Given the description of an element on the screen output the (x, y) to click on. 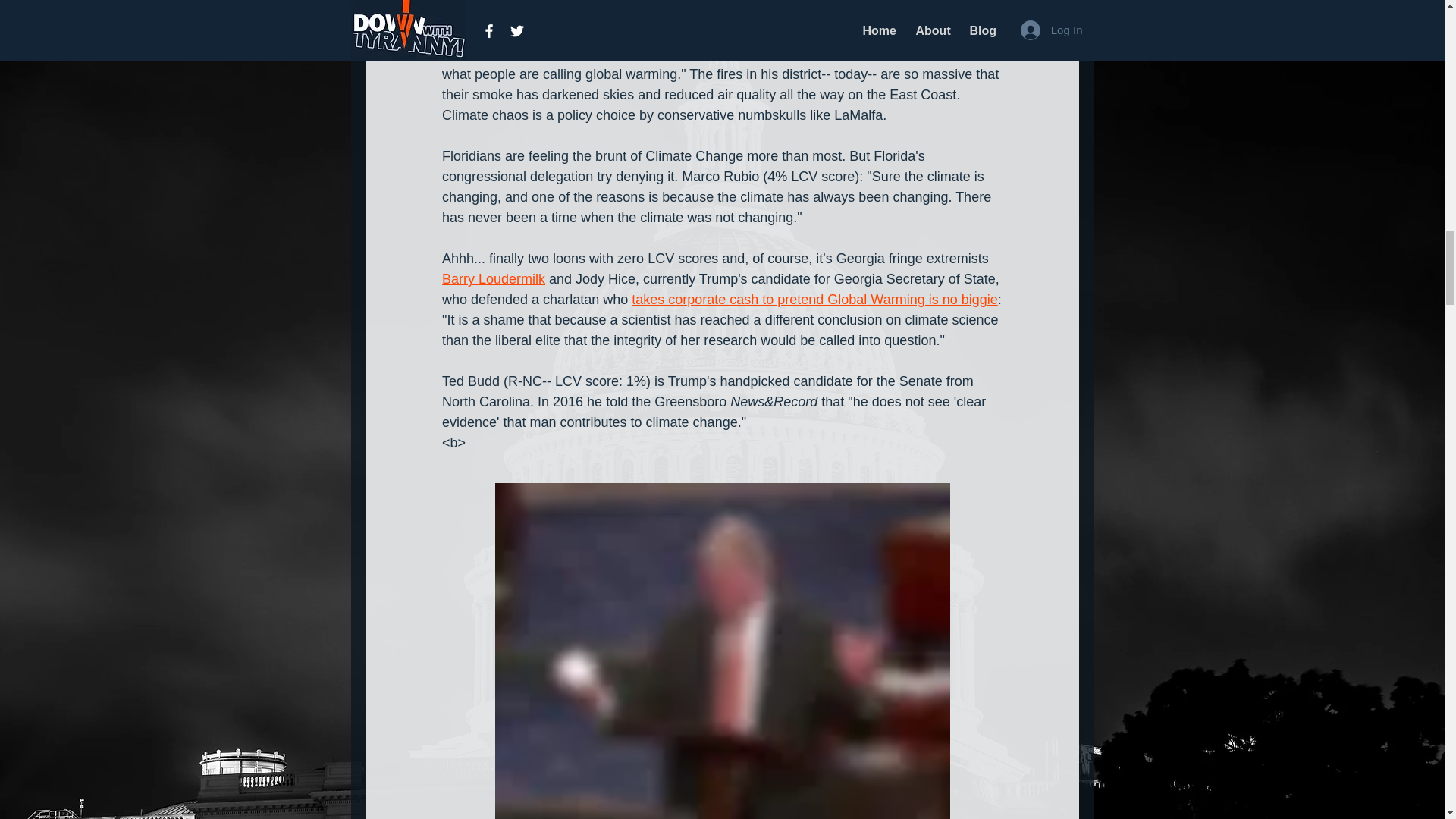
takes corporate cash to pretend Global Warming is no biggie (814, 299)
global warming prophets of doom (542, 12)
Barry Loudermilk (492, 278)
